Given the description of an element on the screen output the (x, y) to click on. 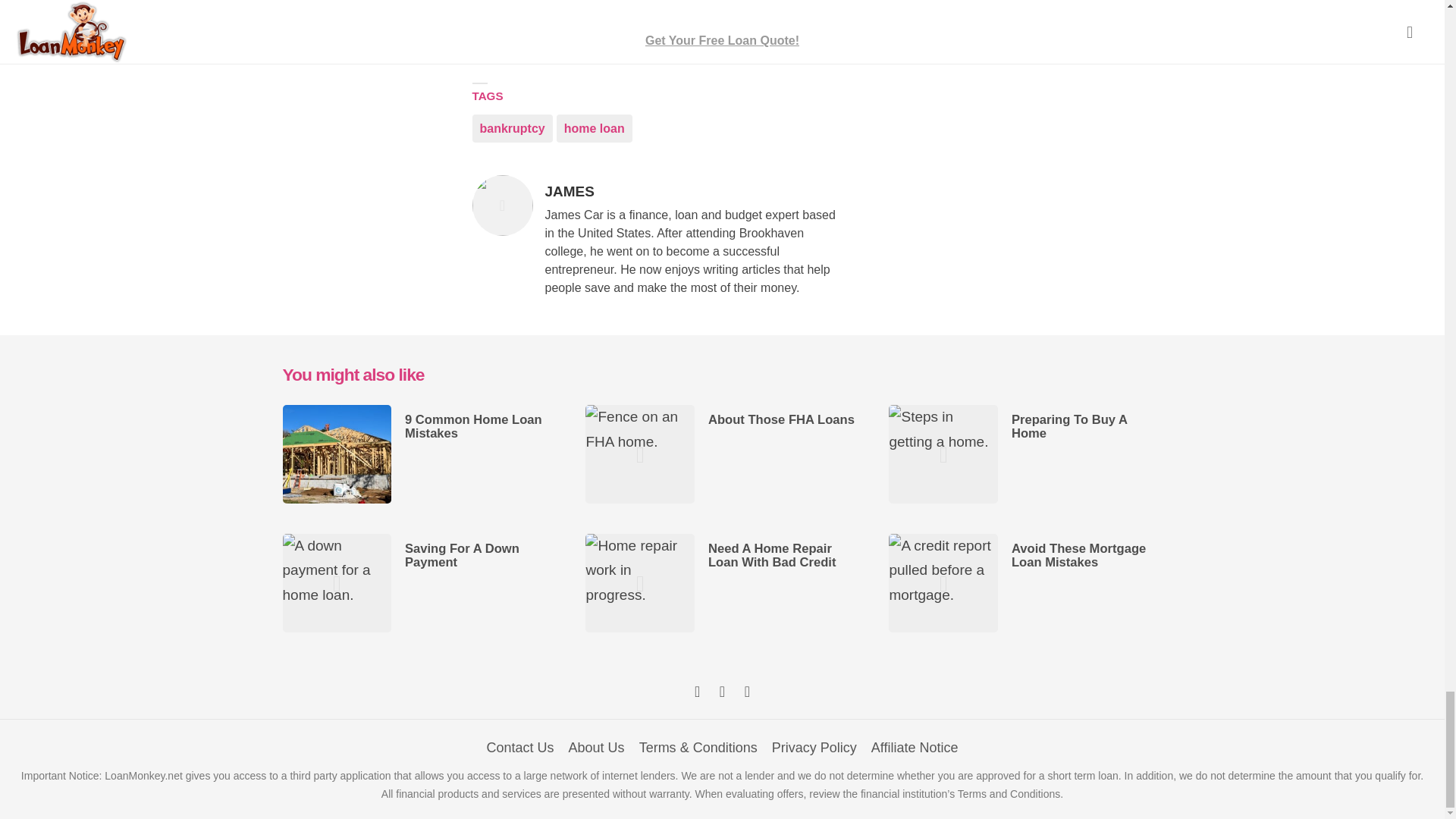
9 Common Home Loan Mistakes (472, 426)
Preparing To Buy A Home (1068, 426)
Contact Us (520, 747)
About Us (596, 747)
Privacy Policy (695, 191)
Affiliate Notice (814, 747)
Saving For A Down Payment (914, 747)
About Those FHA Loans (461, 555)
bankruptcy (780, 419)
Need A Home Repair Loan With Bad Credit (511, 128)
home loan (771, 555)
Avoid These Mortgage Loan Mistakes (593, 128)
